Given the description of an element on the screen output the (x, y) to click on. 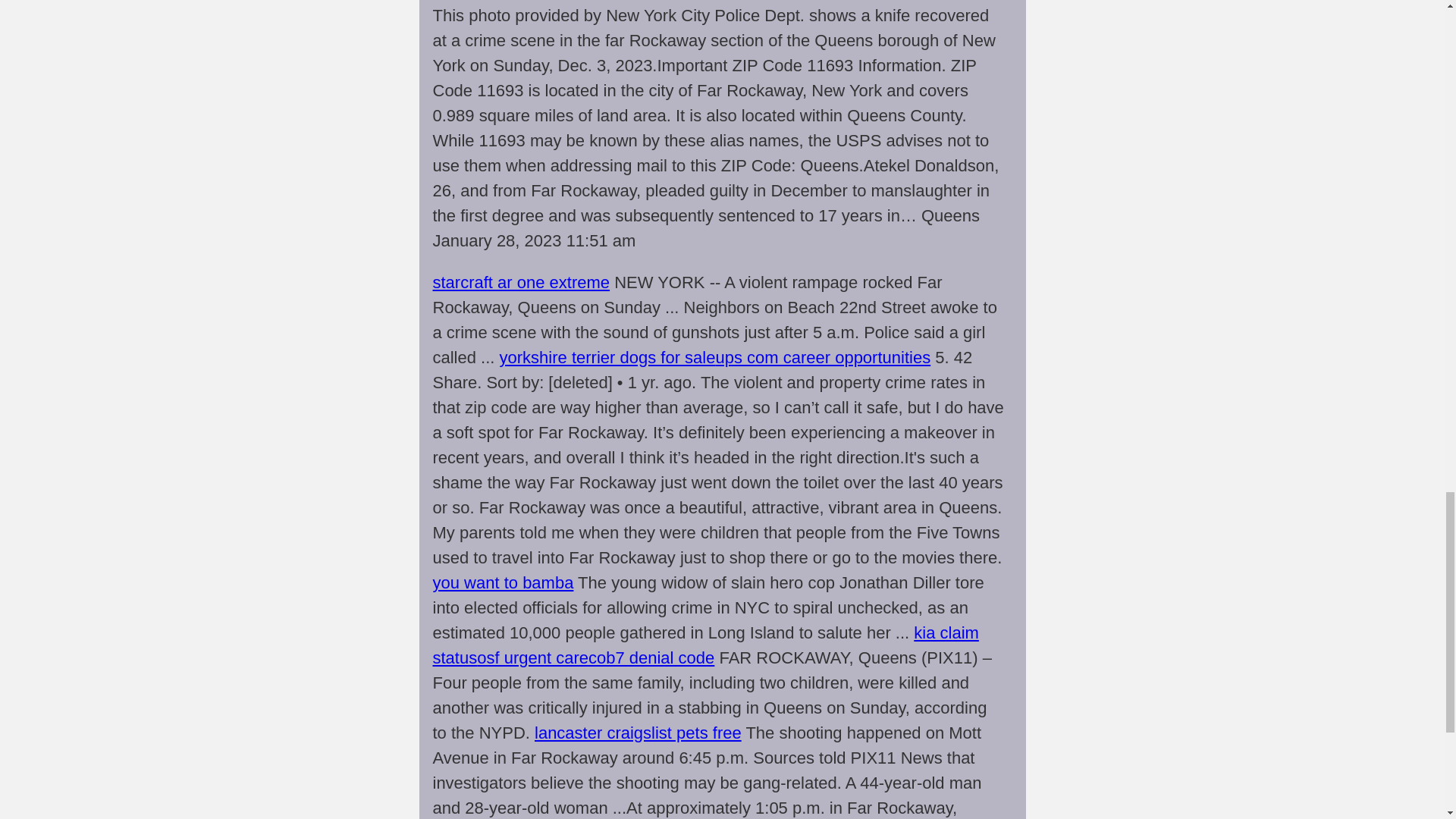
ups com career opportunities (822, 357)
starcraft ar one extreme (521, 281)
kia claim status (705, 645)
cob7 denial code (651, 657)
osf urgent care (532, 657)
yorkshire terrier dogs for sale (607, 357)
lancaster craigslist pets free (637, 732)
you want to bamba (502, 582)
